Given the description of an element on the screen output the (x, y) to click on. 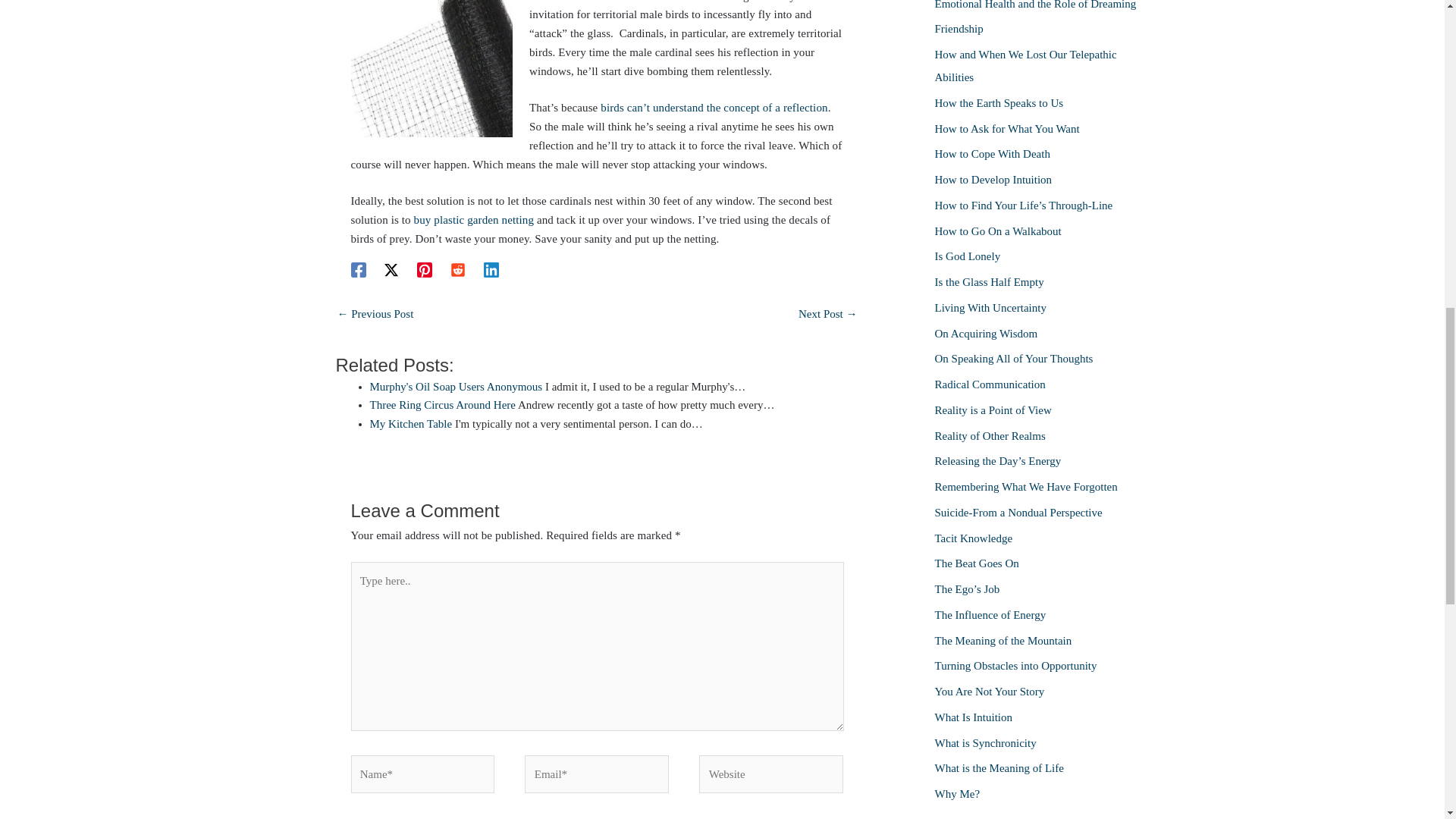
buy plastic garden netting (473, 219)
Too Optimistic...? (374, 315)
Now THAT'S What I Call a Rainbow! (827, 315)
